Given the description of an element on the screen output the (x, y) to click on. 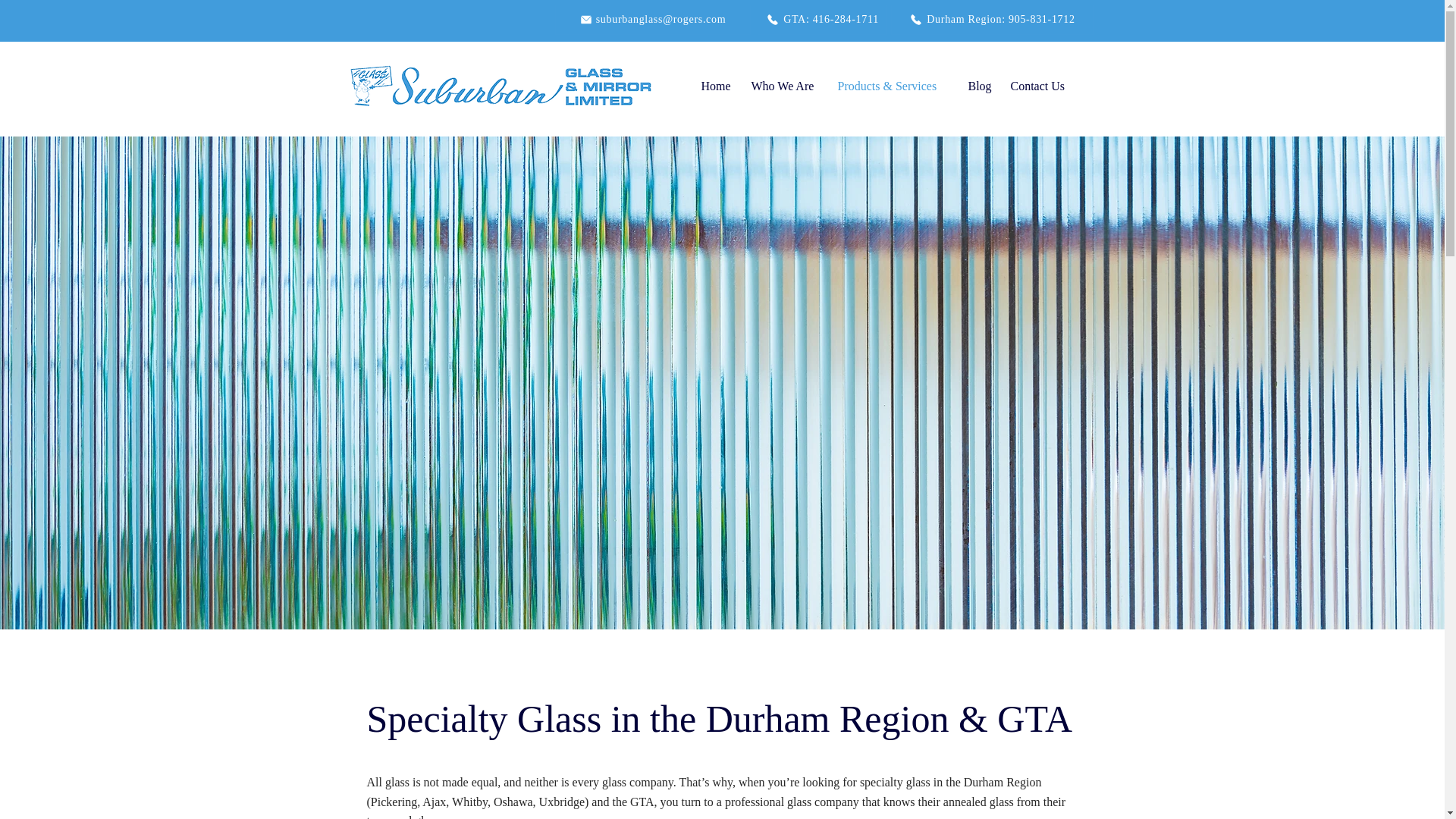
Blog (981, 85)
Durham Region: 905-831-1712 (991, 19)
Contact Us (1042, 85)
GTA: 416-284-1711 (821, 19)
Home (717, 85)
Who We Are (785, 85)
